Given the description of an element on the screen output the (x, y) to click on. 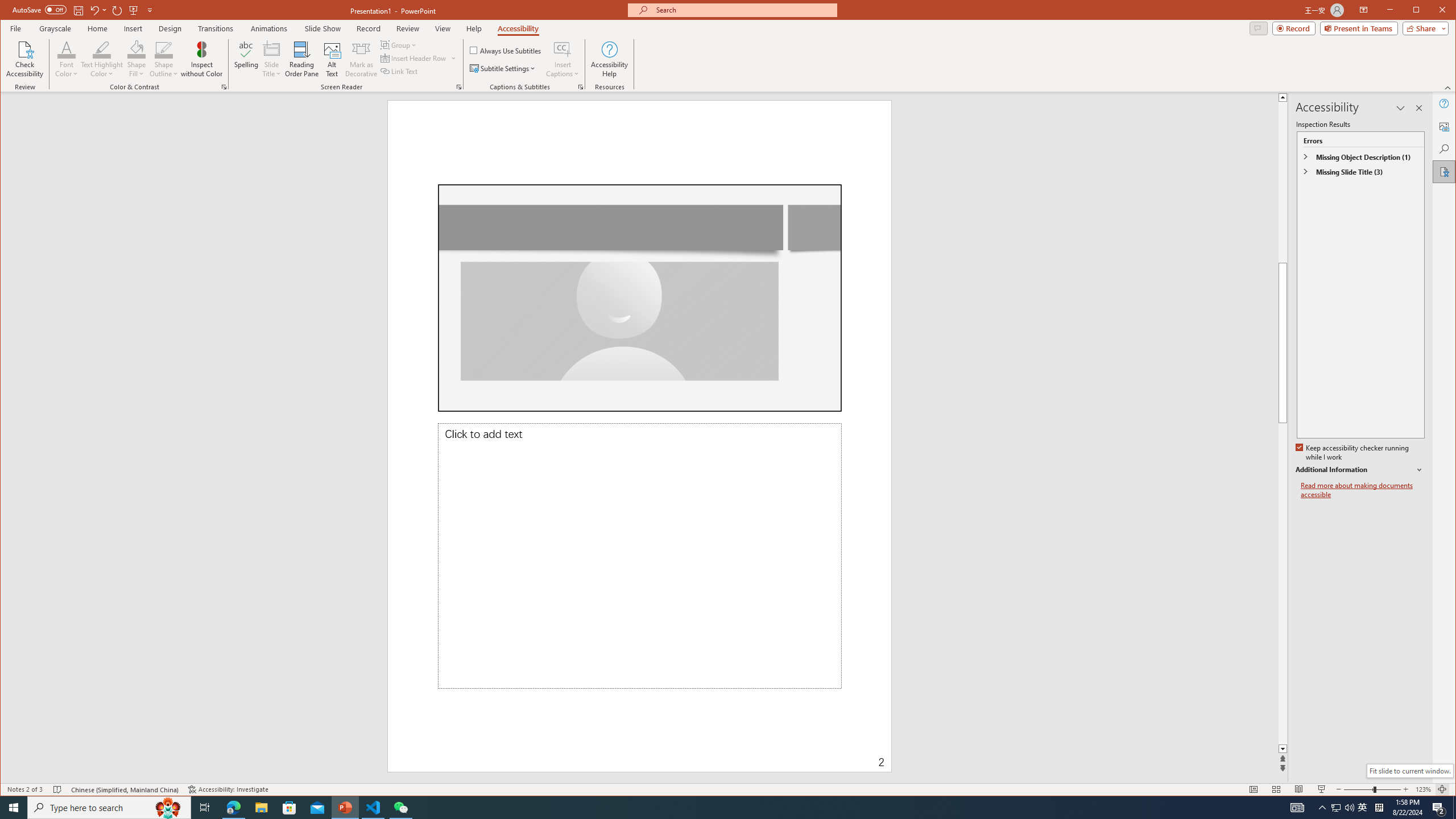
Zoom 123% (1422, 789)
Page Number (781, 754)
Slide Title (271, 59)
